Given the description of an element on the screen output the (x, y) to click on. 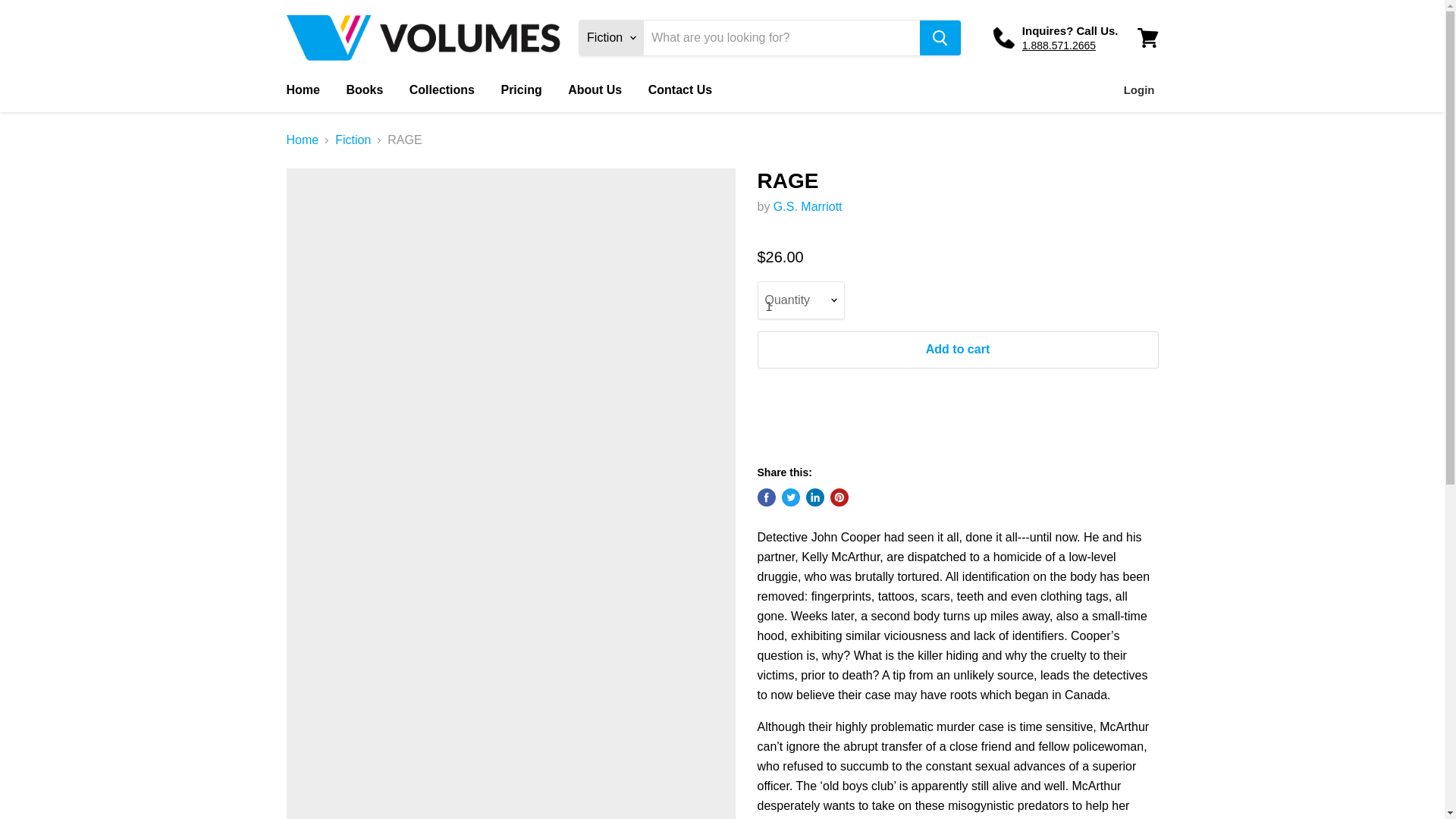
Pricing (521, 90)
Tweet on Twitter (789, 497)
Collections (441, 90)
Fiction (352, 140)
Contact Us (680, 90)
Login (1139, 90)
Home (302, 90)
Home (302, 140)
View cart (1147, 37)
Pin on Pinterest (838, 497)
About Us (594, 90)
Books (364, 90)
Share on LinkedIn (814, 497)
Share on Facebook (765, 497)
Add to cart (957, 349)
